Given the description of an element on the screen output the (x, y) to click on. 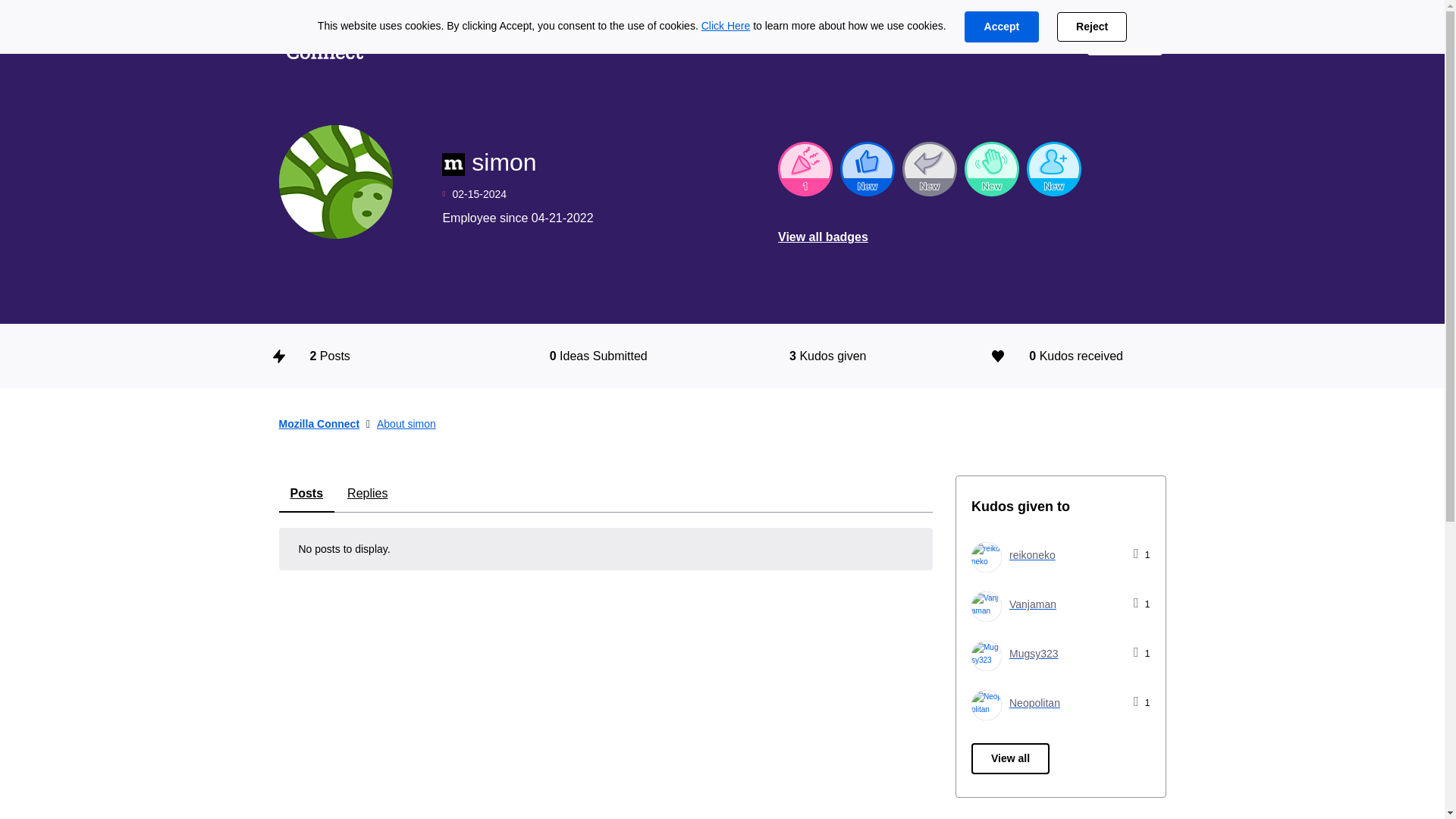
Mozilla Connect (324, 39)
reikoneko (1013, 555)
Click Here (726, 25)
Team Player (867, 168)
reikoneko (986, 557)
Neopolitan (986, 705)
Employee (453, 164)
Happy Anniversary! (804, 168)
First Reply (929, 168)
Accept (1001, 26)
Posts (306, 493)
Vanjaman (986, 606)
Ideas (411, 39)
Community (607, 39)
simon (336, 182)
